Given the description of an element on the screen output the (x, y) to click on. 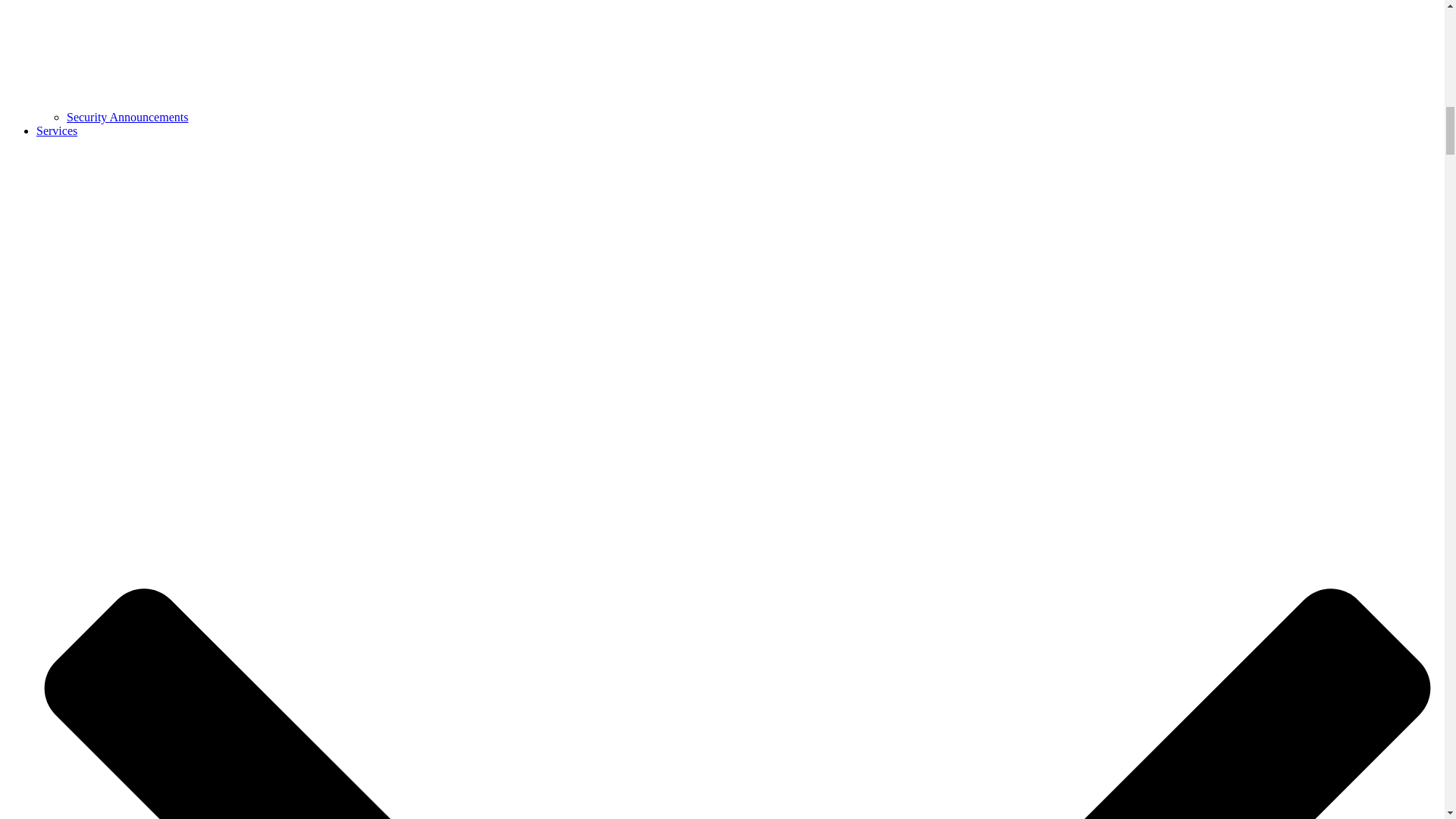
Security Announcements (126, 116)
Services (56, 130)
